Given the description of an element on the screen output the (x, y) to click on. 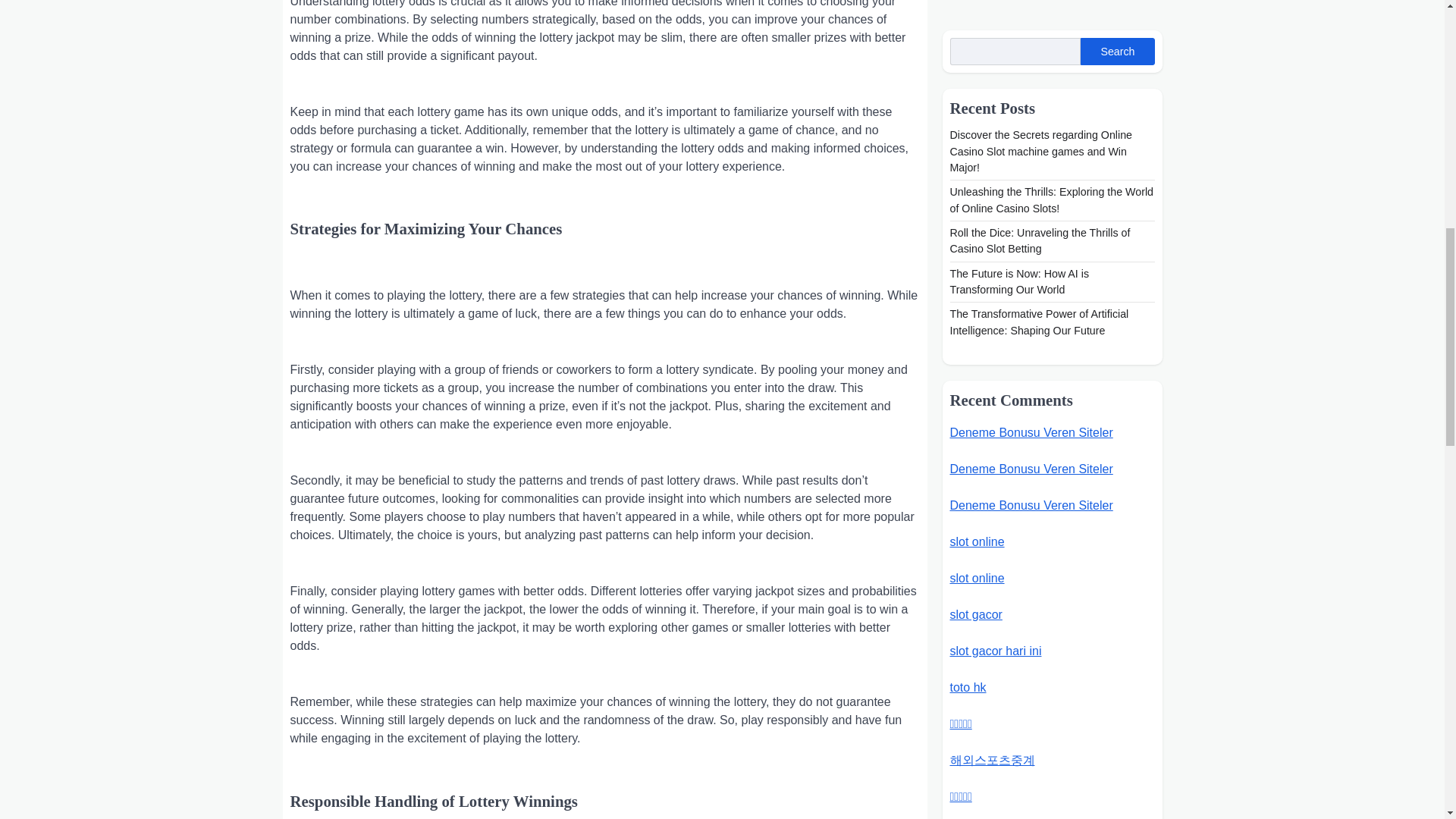
bahis siteleri (982, 219)
bedava deneme bonusu (1014, 182)
Dewacasino168 (992, 110)
bedava deneme bonusu (1014, 146)
